Given the description of an element on the screen output the (x, y) to click on. 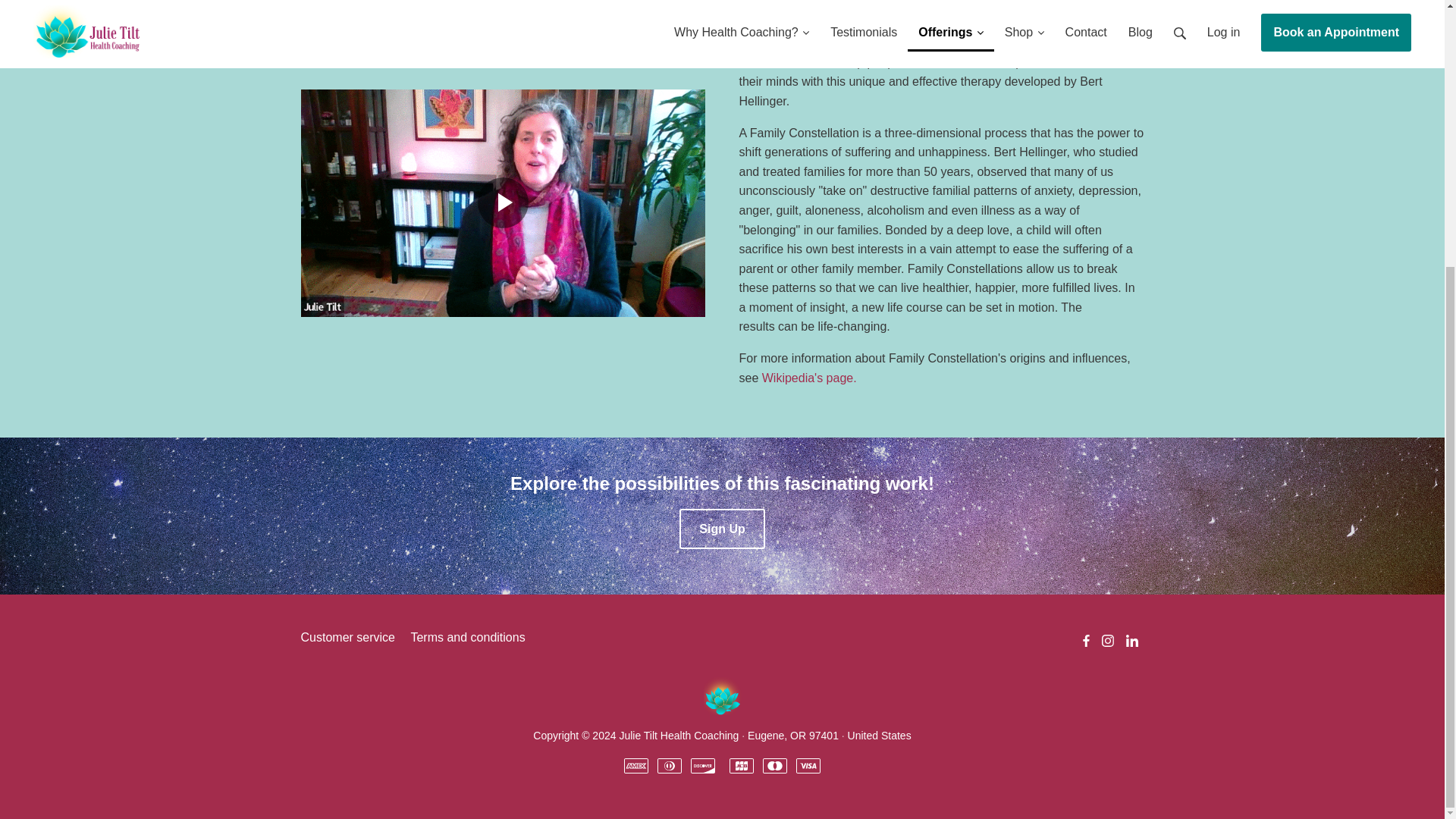
Play Video (502, 202)
LinkedIn (1130, 640)
Play Video (502, 202)
Instagram (1106, 640)
